Given the description of an element on the screen output the (x, y) to click on. 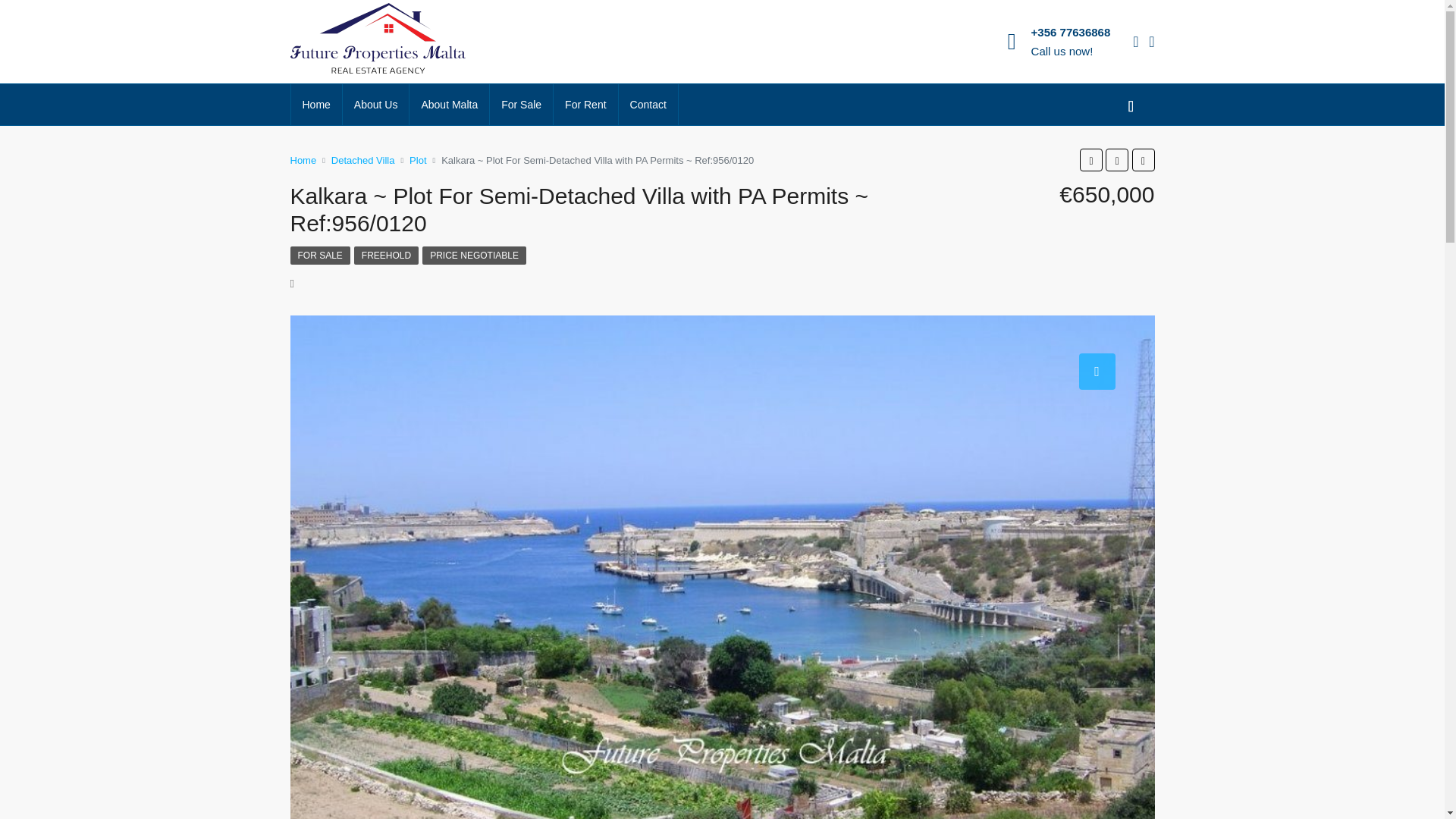
Plot (417, 158)
Home (302, 158)
FREEHOLD (386, 255)
For Rent (585, 104)
Call us now! (1061, 51)
About Malta (449, 104)
About Us (375, 104)
FOR SALE (319, 255)
Detached Villa (362, 158)
For Sale (521, 104)
Home (316, 104)
PRICE NEGOTIABLE (473, 255)
Contact (648, 104)
